Given the description of an element on the screen output the (x, y) to click on. 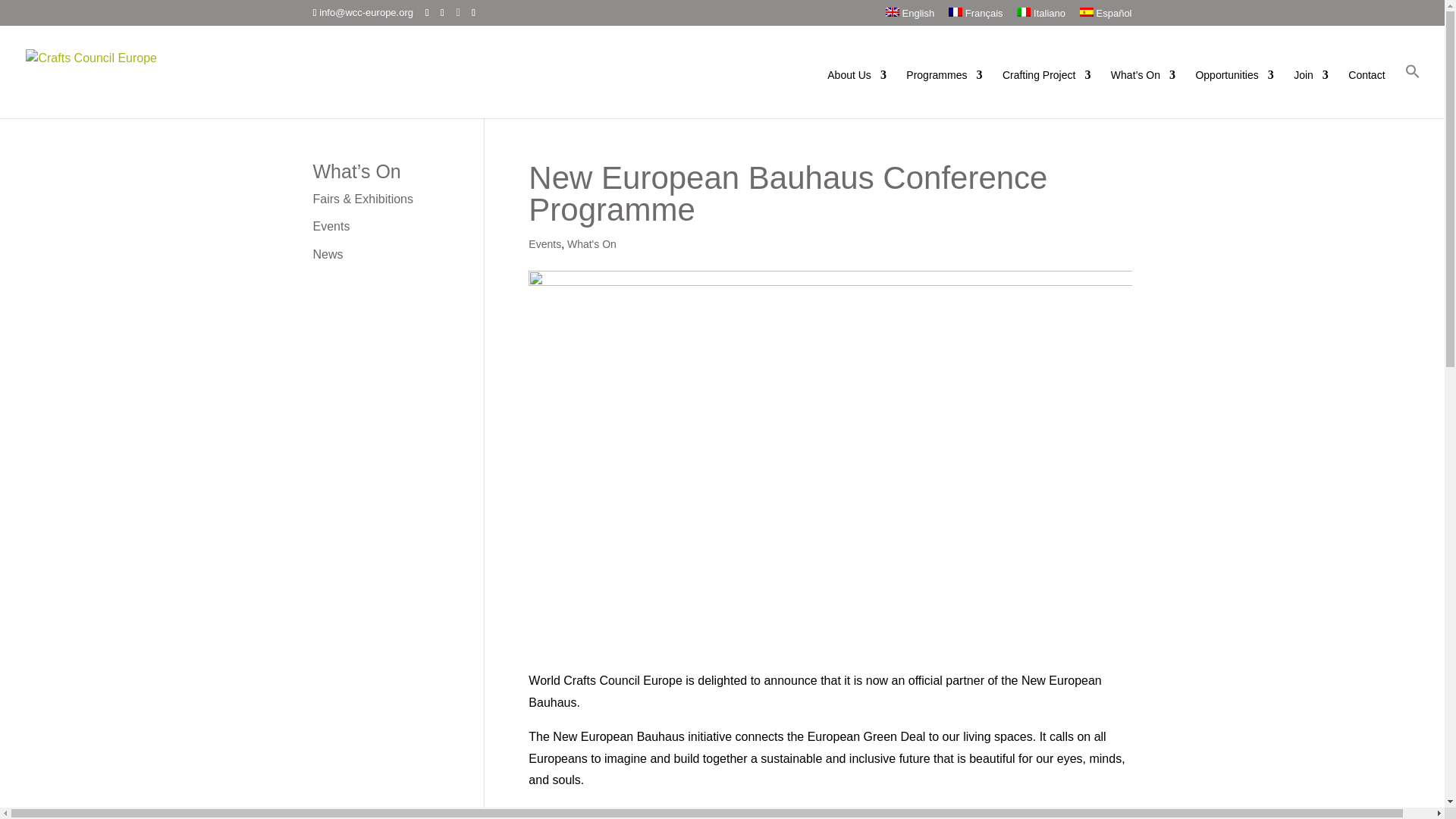
English (909, 16)
Programmes (943, 93)
About Us (856, 93)
English (909, 16)
Italiano (1040, 16)
Italiano (1040, 16)
Crafting Project (1046, 93)
